Given the description of an element on the screen output the (x, y) to click on. 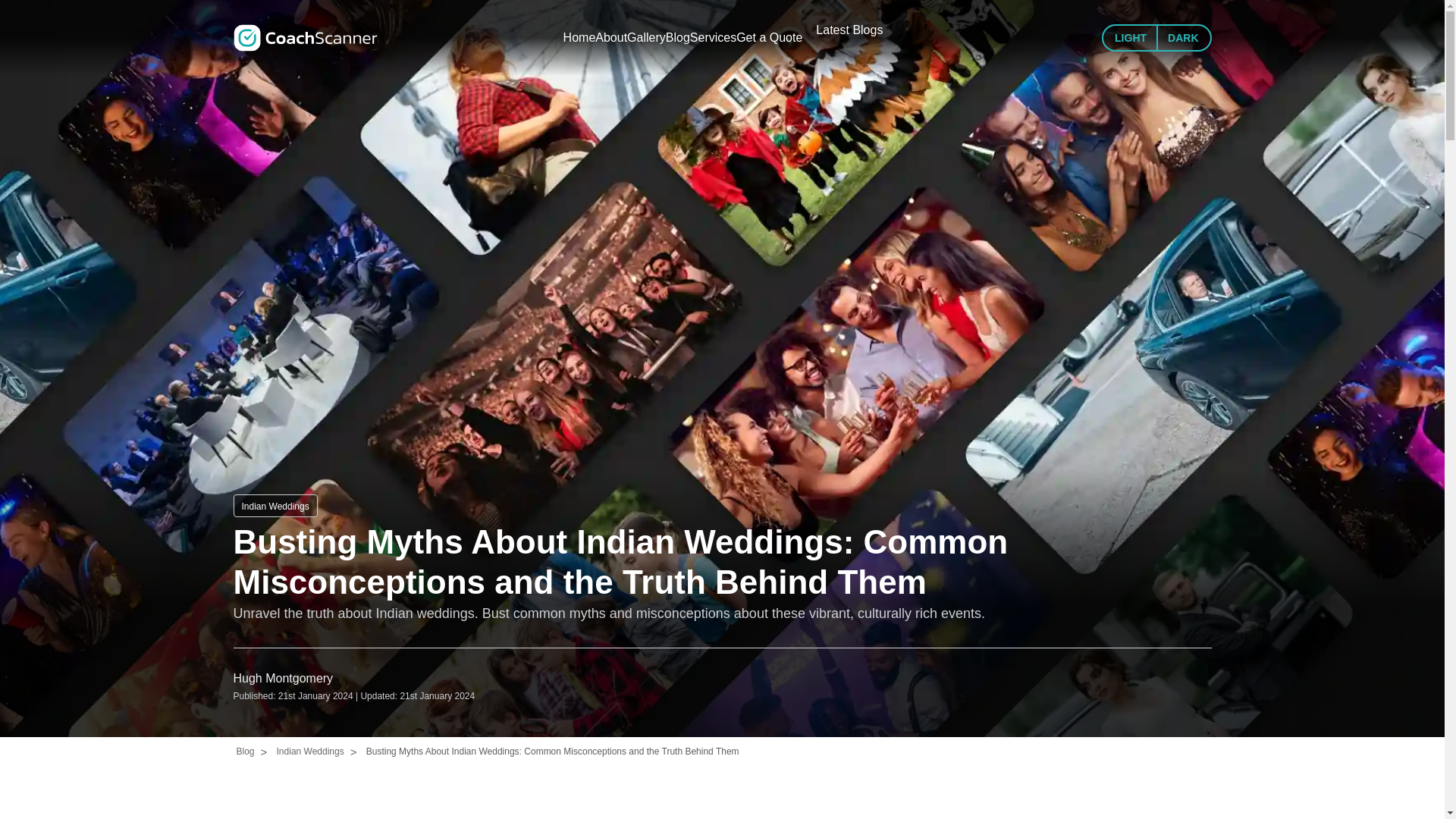
Latest Blogs (922, 30)
Get a Quote (829, 30)
Coach Scanner (304, 30)
Get a Quote (829, 30)
Latest Blogs (922, 30)
